Given the description of an element on the screen output the (x, y) to click on. 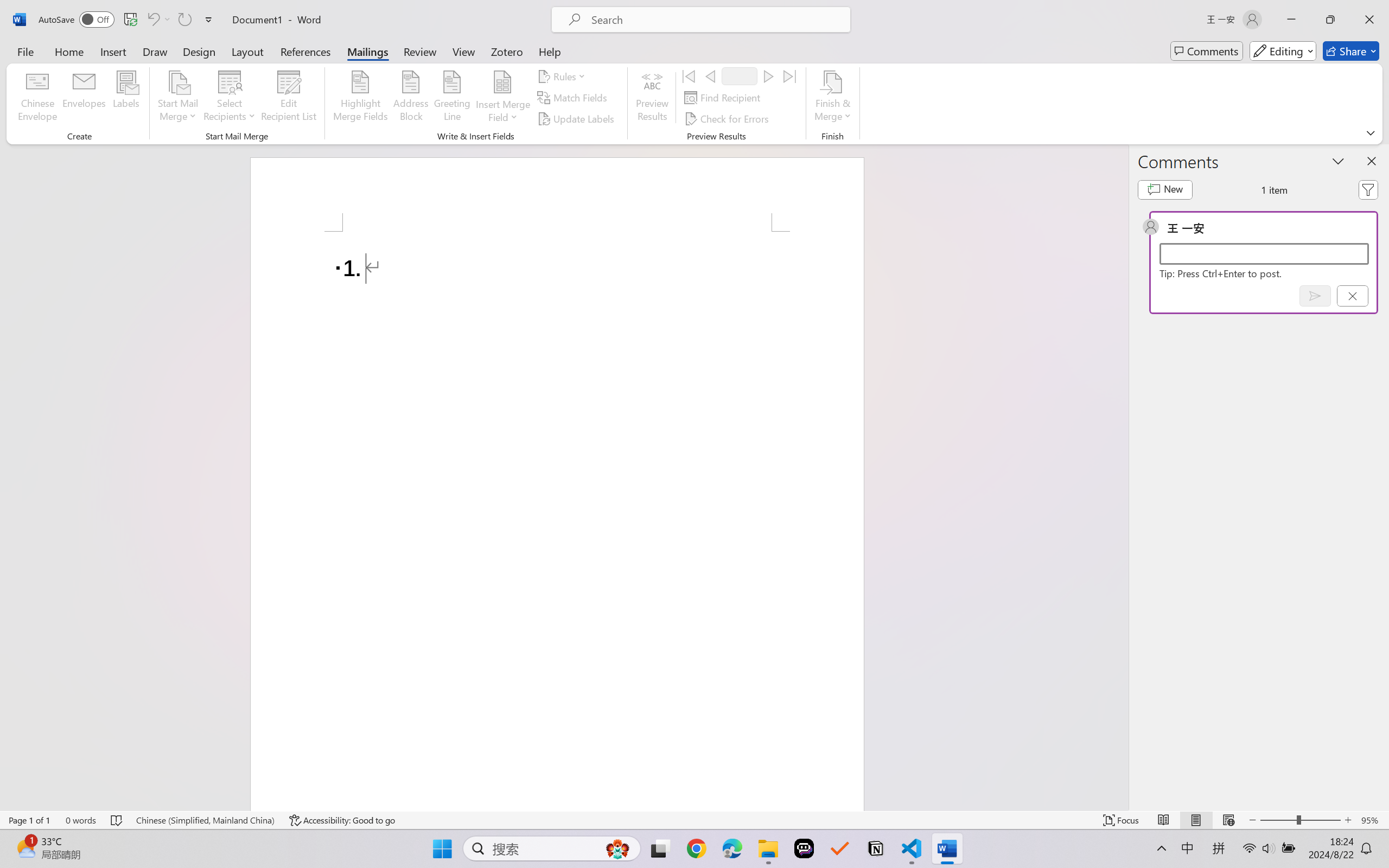
Connector: Elbow Arrow (550, 60)
Vertical Text Box (528, 48)
Distributed (385, 71)
Underline (199, 71)
Arrow: Right (562, 60)
Section (137, 77)
Line Arrow (550, 48)
Rectangle (562, 48)
